Given the description of an element on the screen output the (x, y) to click on. 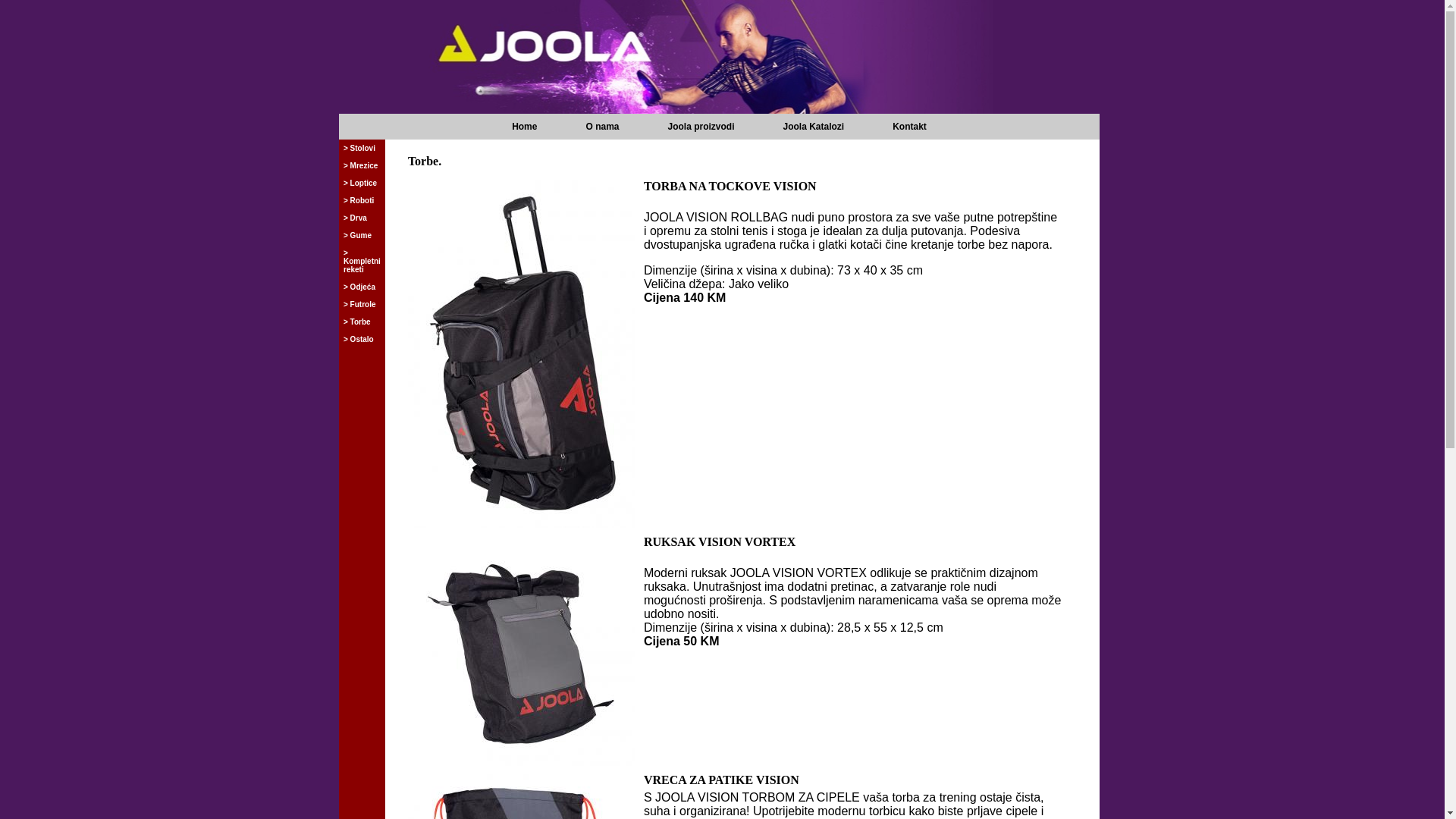
> Kompletni reketi Element type: text (361, 261)
Home Element type: text (524, 126)
> Gume Element type: text (361, 235)
> Futrole Element type: text (361, 304)
> Stolovi Element type: text (361, 147)
> Ostalo Element type: text (361, 339)
> Mrezice Element type: text (361, 165)
> Torbe Element type: text (361, 321)
Joola Katalozi Element type: text (812, 126)
> Roboti Element type: text (361, 200)
> Loptice Element type: text (361, 182)
Joola proizvodi Element type: text (700, 126)
Kontakt Element type: text (909, 126)
O nama Element type: text (601, 126)
> Drva Element type: text (361, 217)
